Given the description of an element on the screen output the (x, y) to click on. 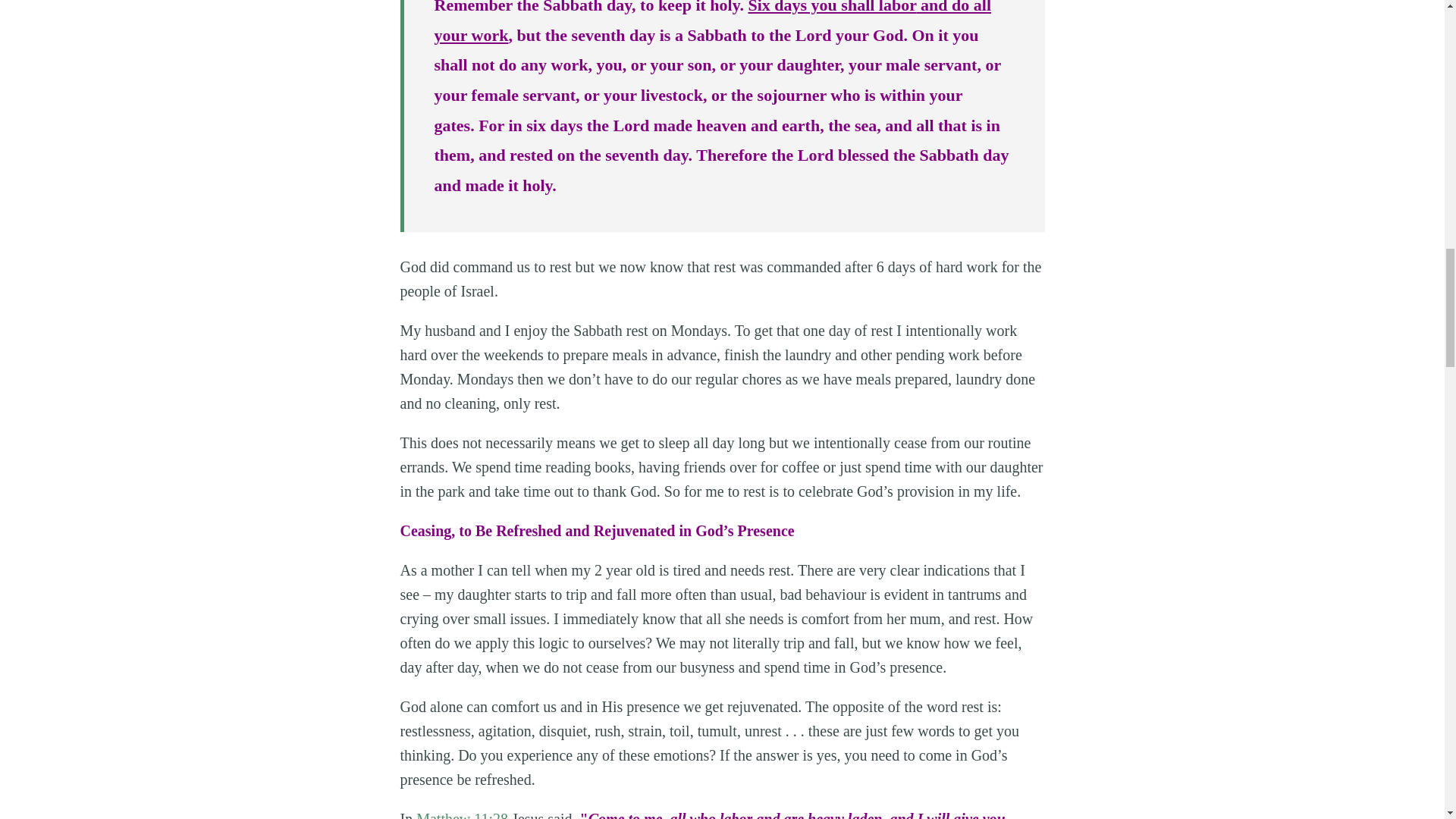
Matthew 11:28 (462, 814)
